Given the description of an element on the screen output the (x, y) to click on. 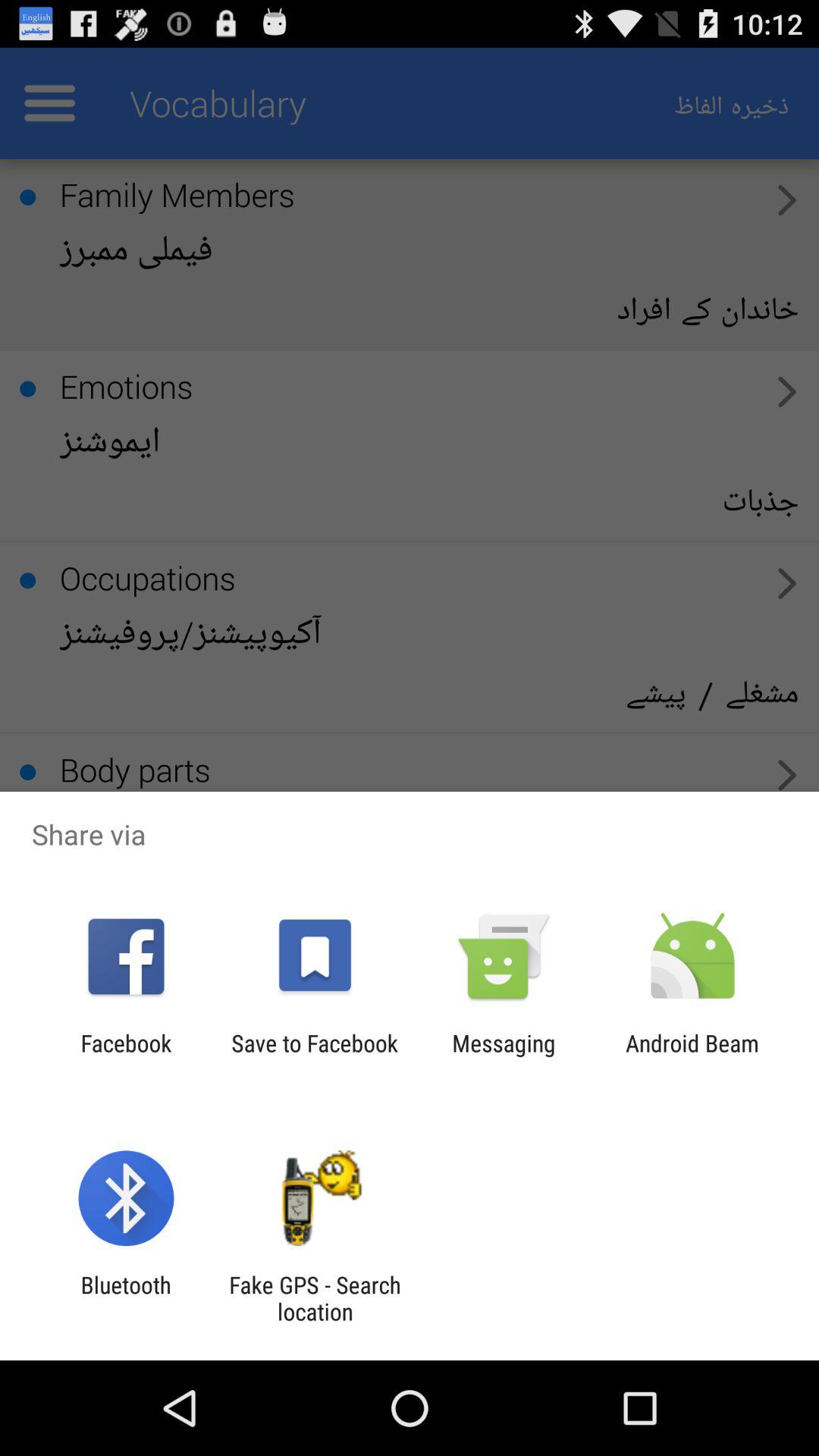
scroll to android beam icon (692, 1056)
